Given the description of an element on the screen output the (x, y) to click on. 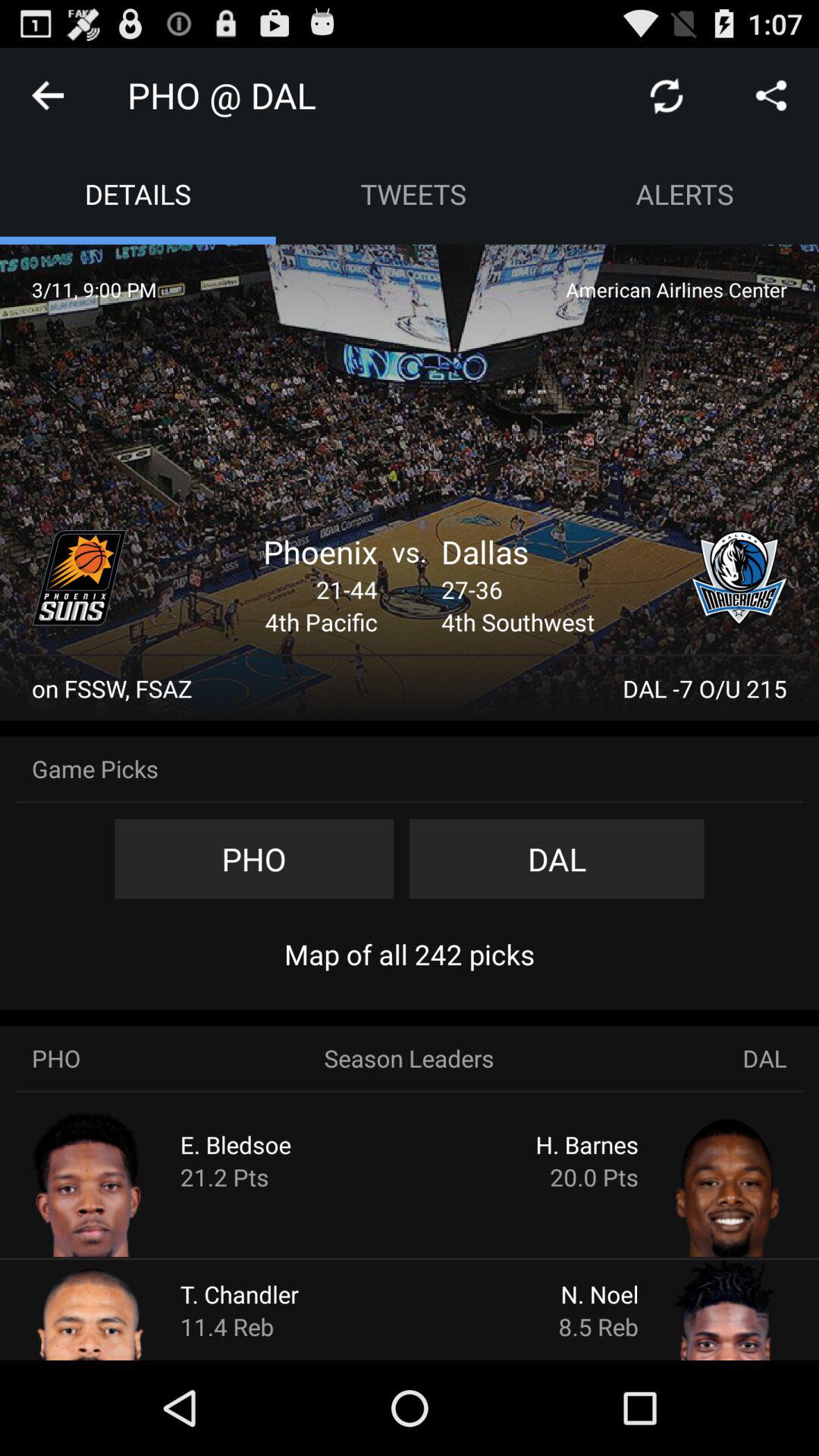
show detailed statistics for player (699, 1309)
